Given the description of an element on the screen output the (x, y) to click on. 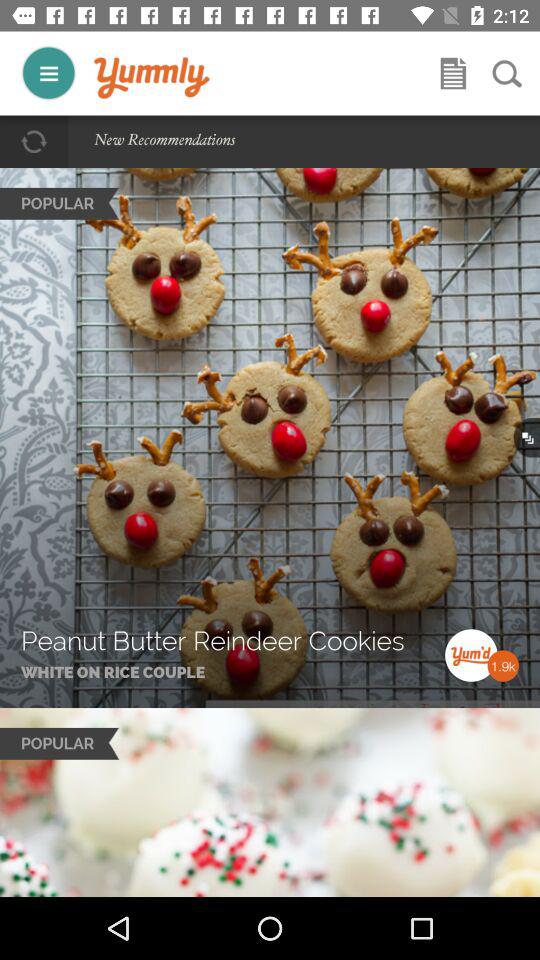
go to menu (48, 72)
